Given the description of an element on the screen output the (x, y) to click on. 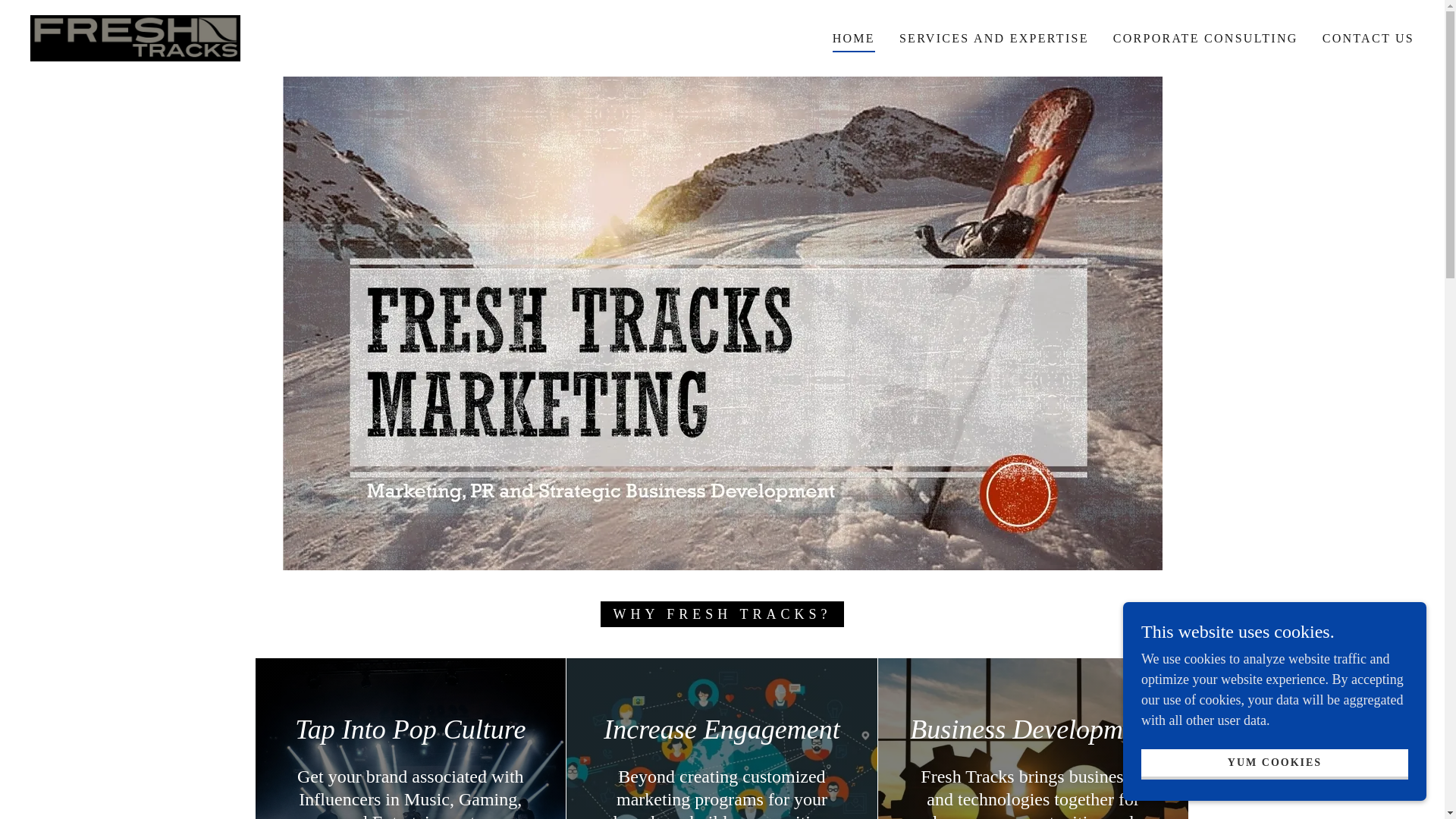
YUM COOKIES (1274, 764)
CONTACT US (1367, 37)
HOME (853, 39)
Fresh Tracks Marketing (135, 37)
SERVICES AND EXPERTISE (994, 37)
CORPORATE CONSULTING (1205, 37)
